Given the description of an element on the screen output the (x, y) to click on. 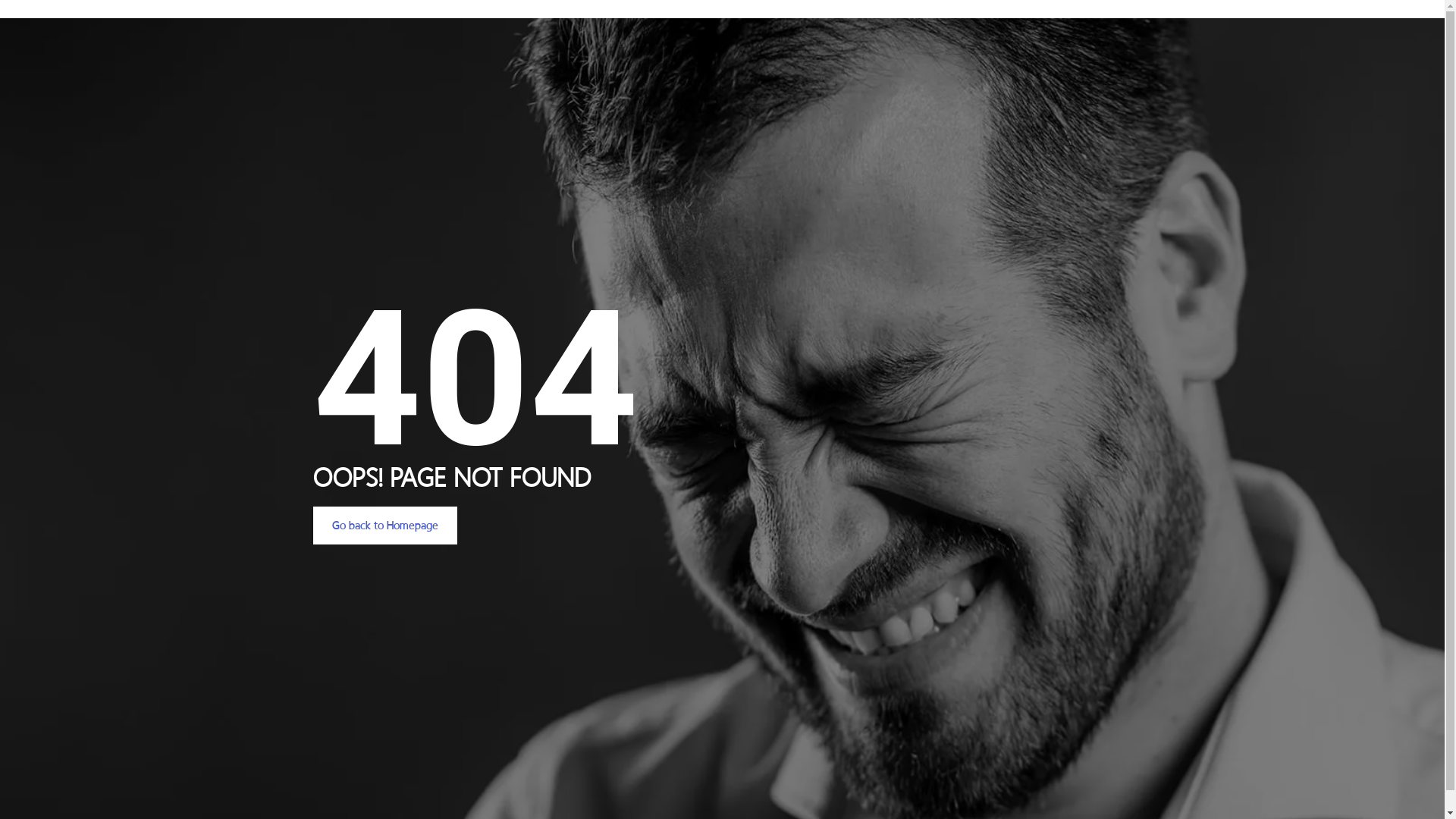
Go back to Homepage Element type: text (384, 525)
